Given the description of an element on the screen output the (x, y) to click on. 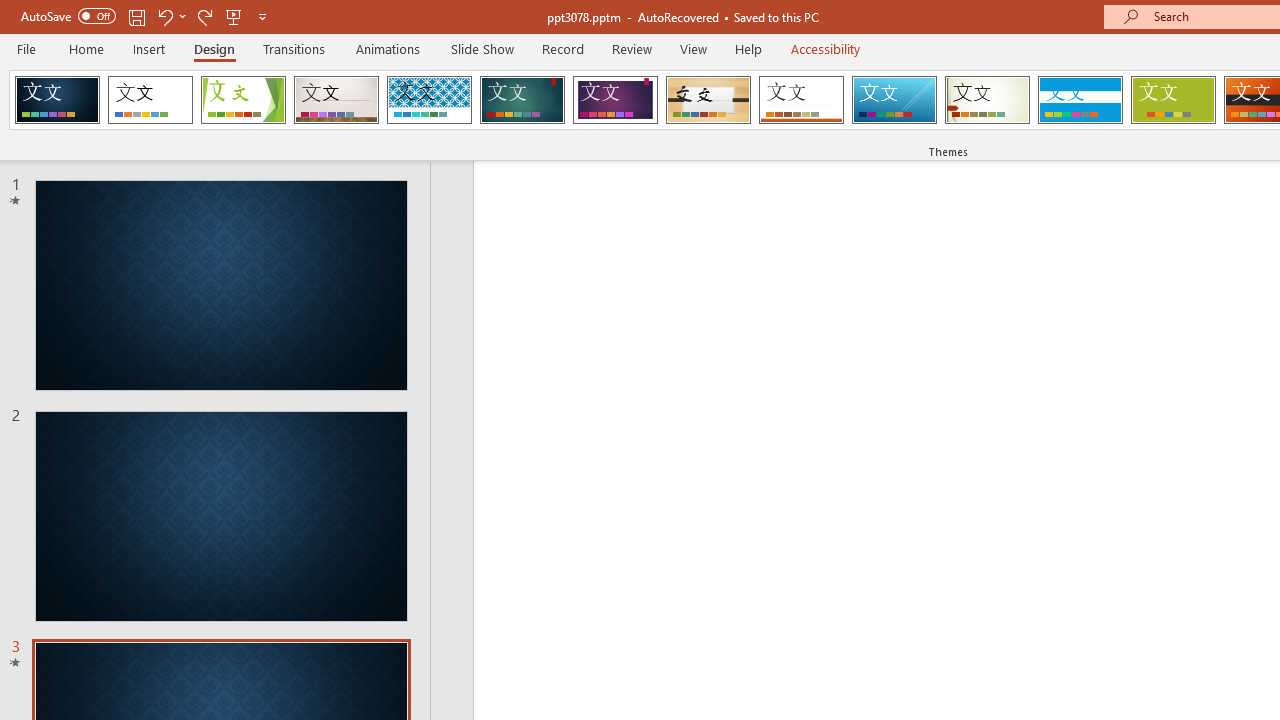
Basis (1172, 100)
Slice (893, 100)
Frame (57, 100)
